Given the description of an element on the screen output the (x, y) to click on. 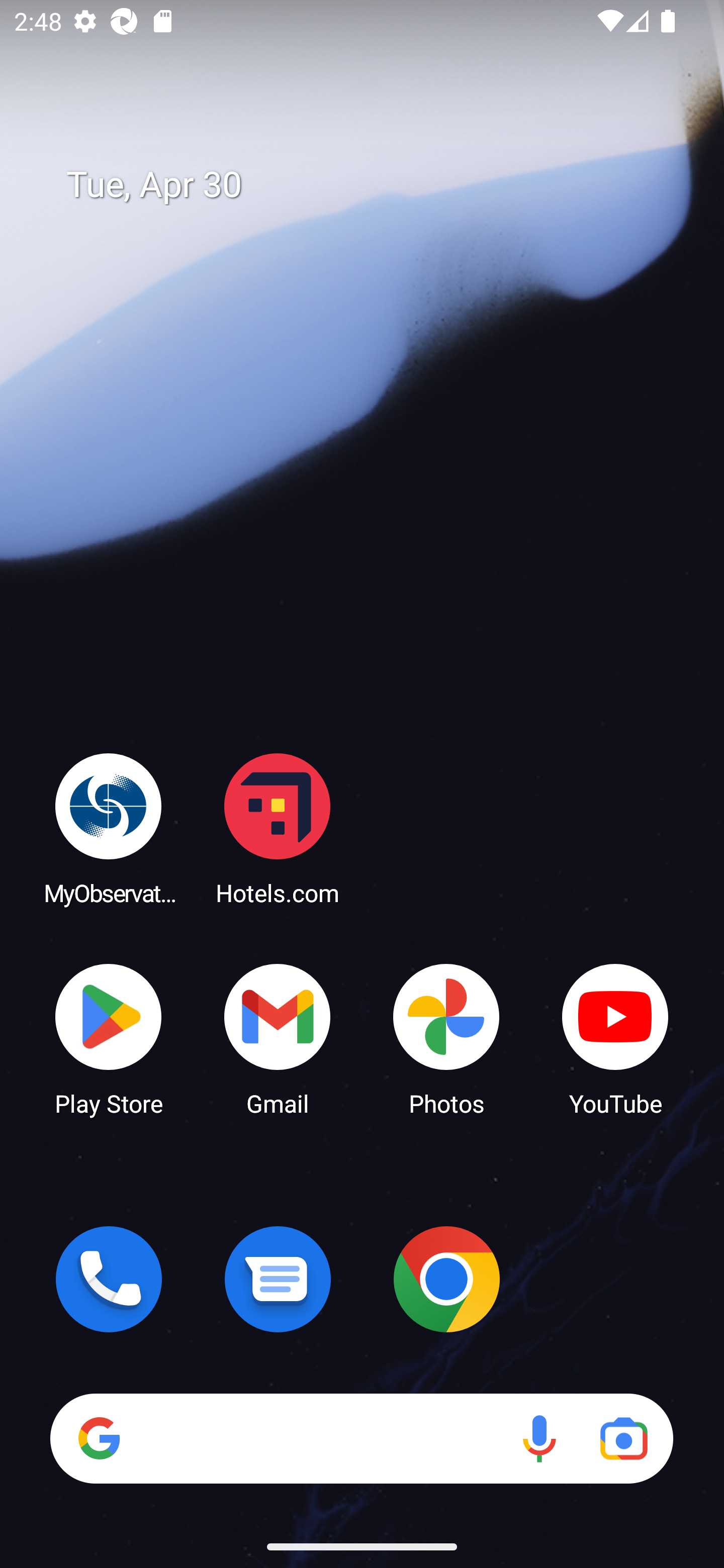
Tue, Apr 30 (375, 184)
MyObservatory (108, 828)
Hotels.com (277, 828)
Play Store (108, 1038)
Gmail (277, 1038)
Photos (445, 1038)
YouTube (615, 1038)
Phone (108, 1279)
Messages (277, 1279)
Chrome (446, 1279)
Voice search (539, 1438)
Google Lens (623, 1438)
